Given the description of an element on the screen output the (x, y) to click on. 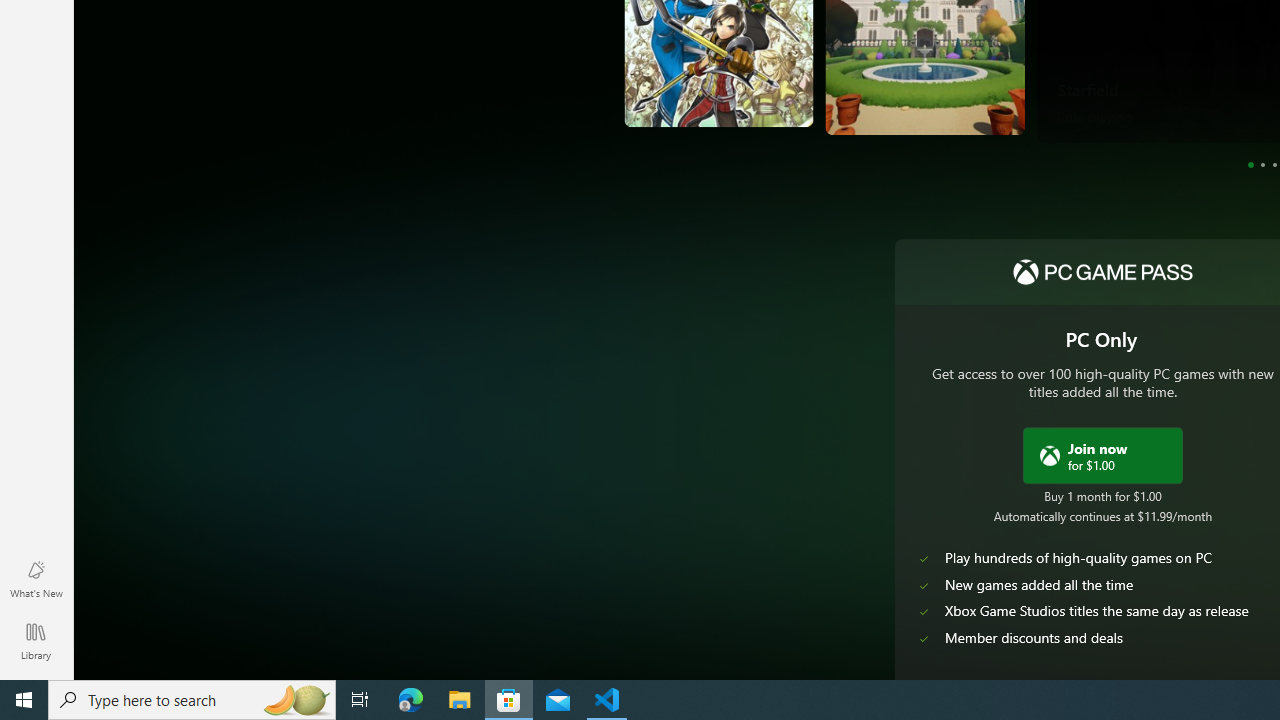
Page 2 (1262, 164)
Page 1 (1250, 164)
Starfield (1087, 88)
PC Game Pass logo (1101, 272)
Join PC Game Pass now for $1.00 (1102, 454)
Eiyuden Chronicle: Hundred Heroes (672, 79)
What's New (35, 578)
Library (35, 640)
Class: Image (1049, 454)
Botany Manor (726, 83)
Play Trailer (1156, 101)
